Given the description of an element on the screen output the (x, y) to click on. 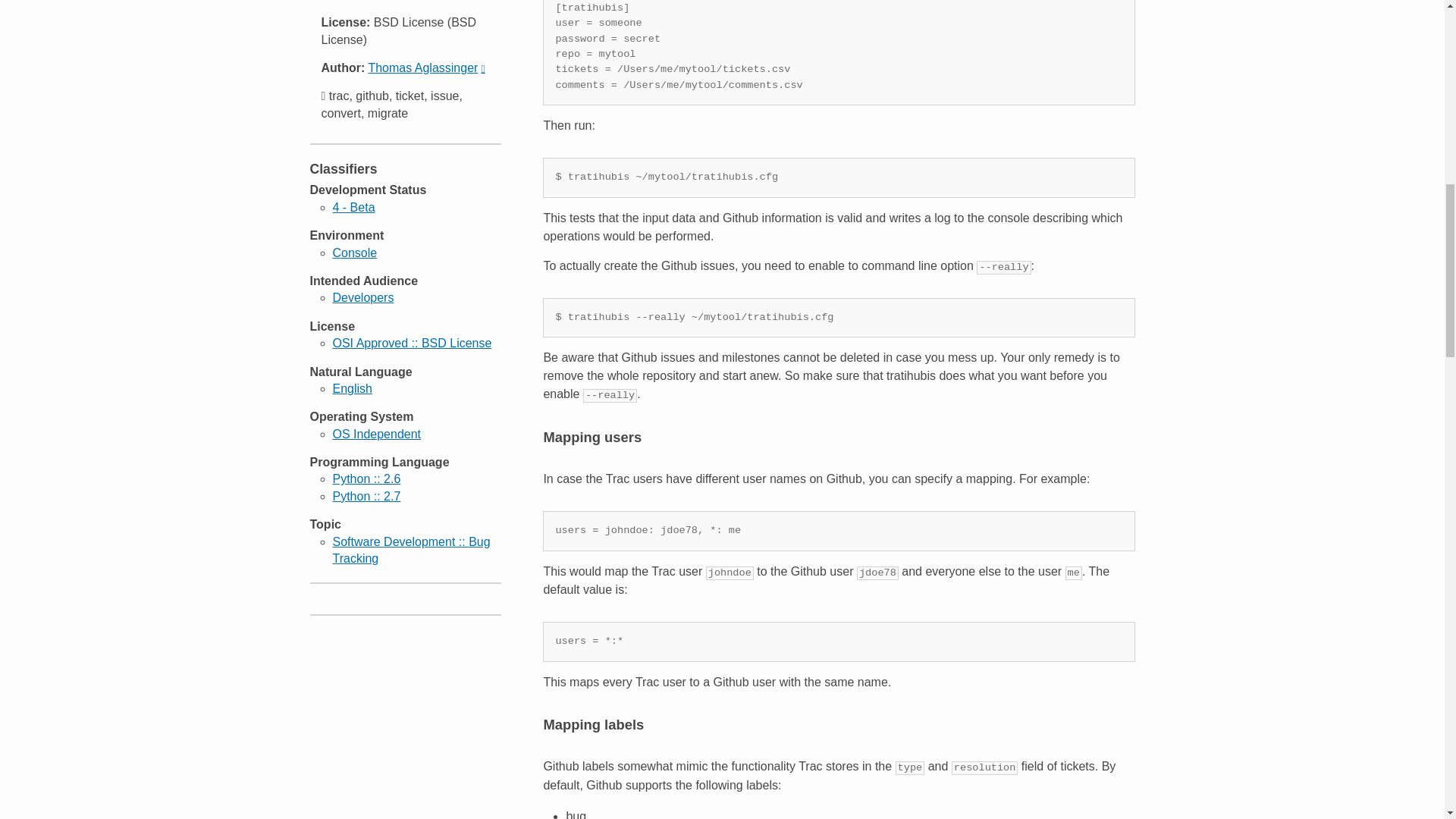
OSI Approved :: BSD License (411, 342)
Python :: 2.6 (365, 478)
Developers (362, 297)
Python :: 2.7 (365, 495)
Console (354, 252)
4 - Beta (352, 206)
Thomas Aglassinger (426, 67)
English (351, 388)
Software Development :: Bug Tracking (410, 550)
OS Independent (375, 433)
